Given the description of an element on the screen output the (x, y) to click on. 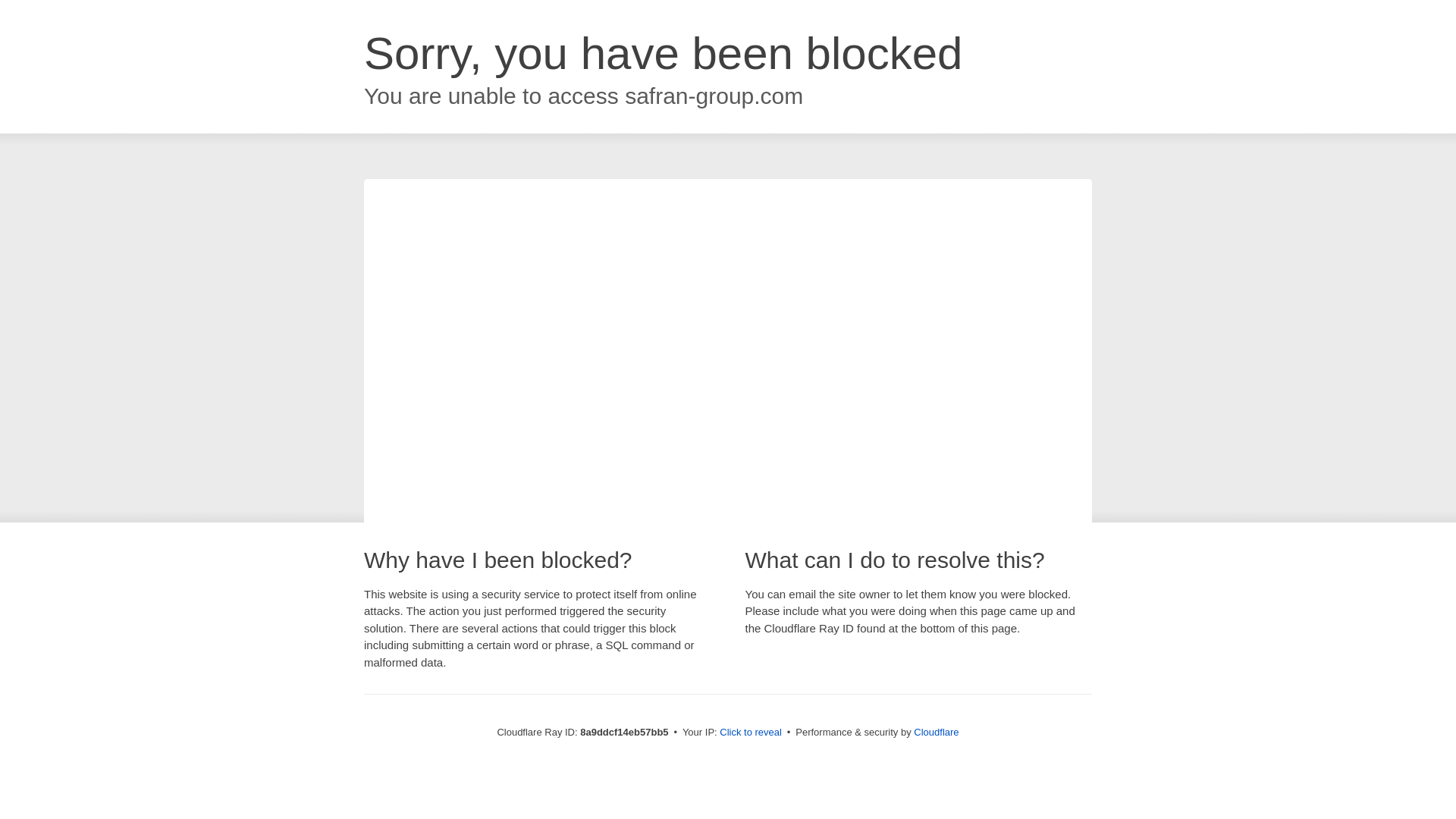
Cloudflare (936, 731)
Click to reveal (750, 732)
